Given the description of an element on the screen output the (x, y) to click on. 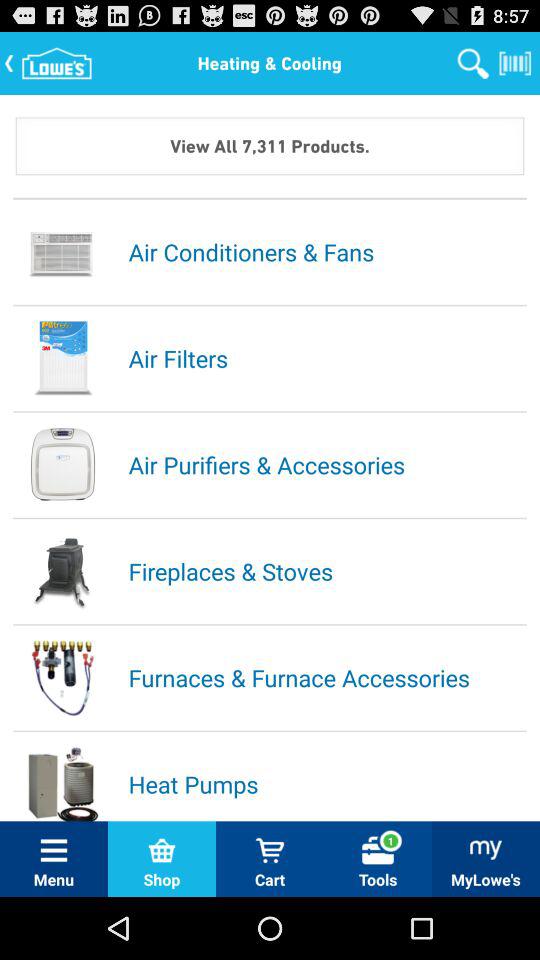
swipe to the fireplaces & stoves app (326, 571)
